Given the description of an element on the screen output the (x, y) to click on. 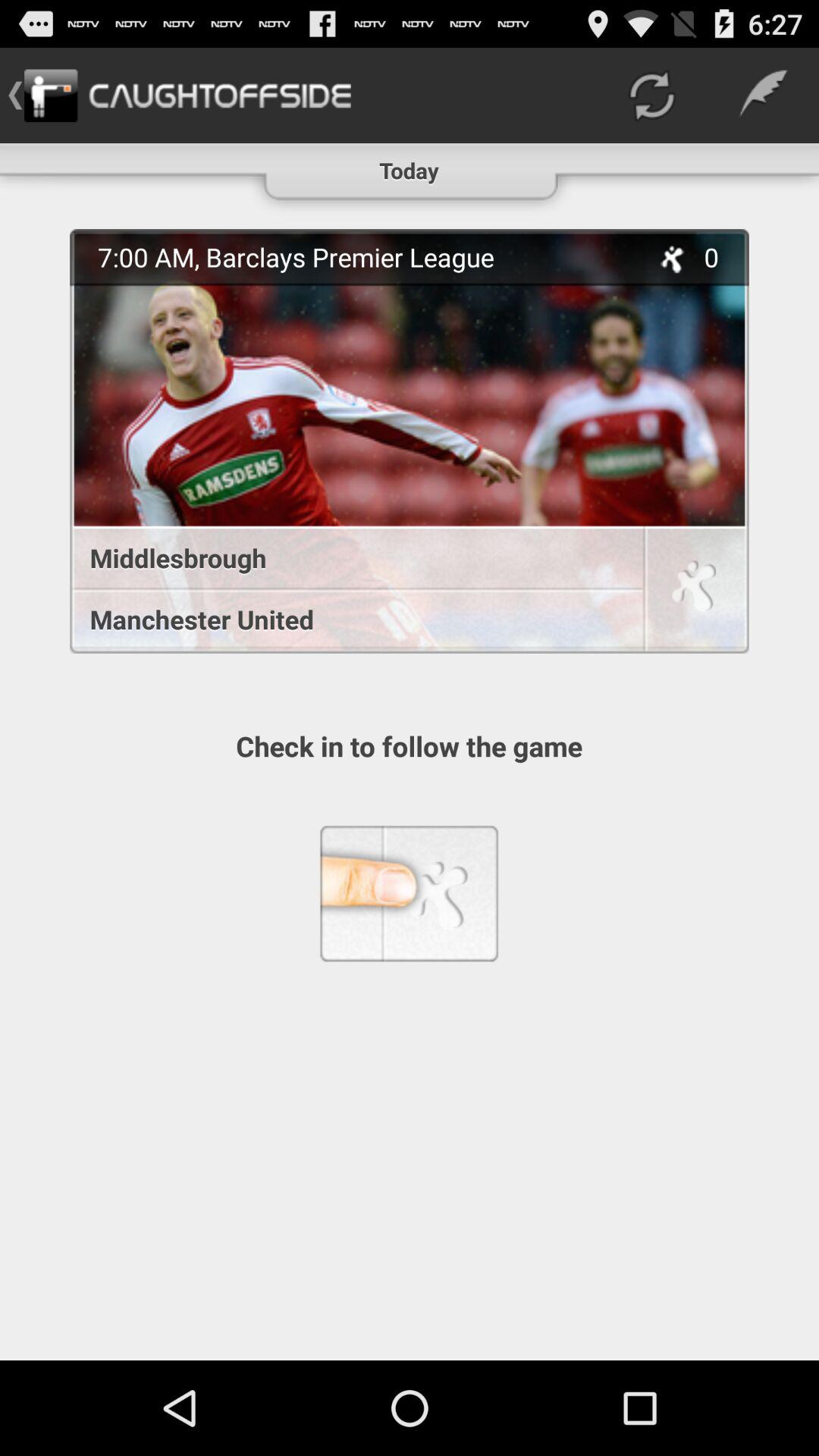
click the icon below middlesbrough app (348, 619)
